Given the description of an element on the screen output the (x, y) to click on. 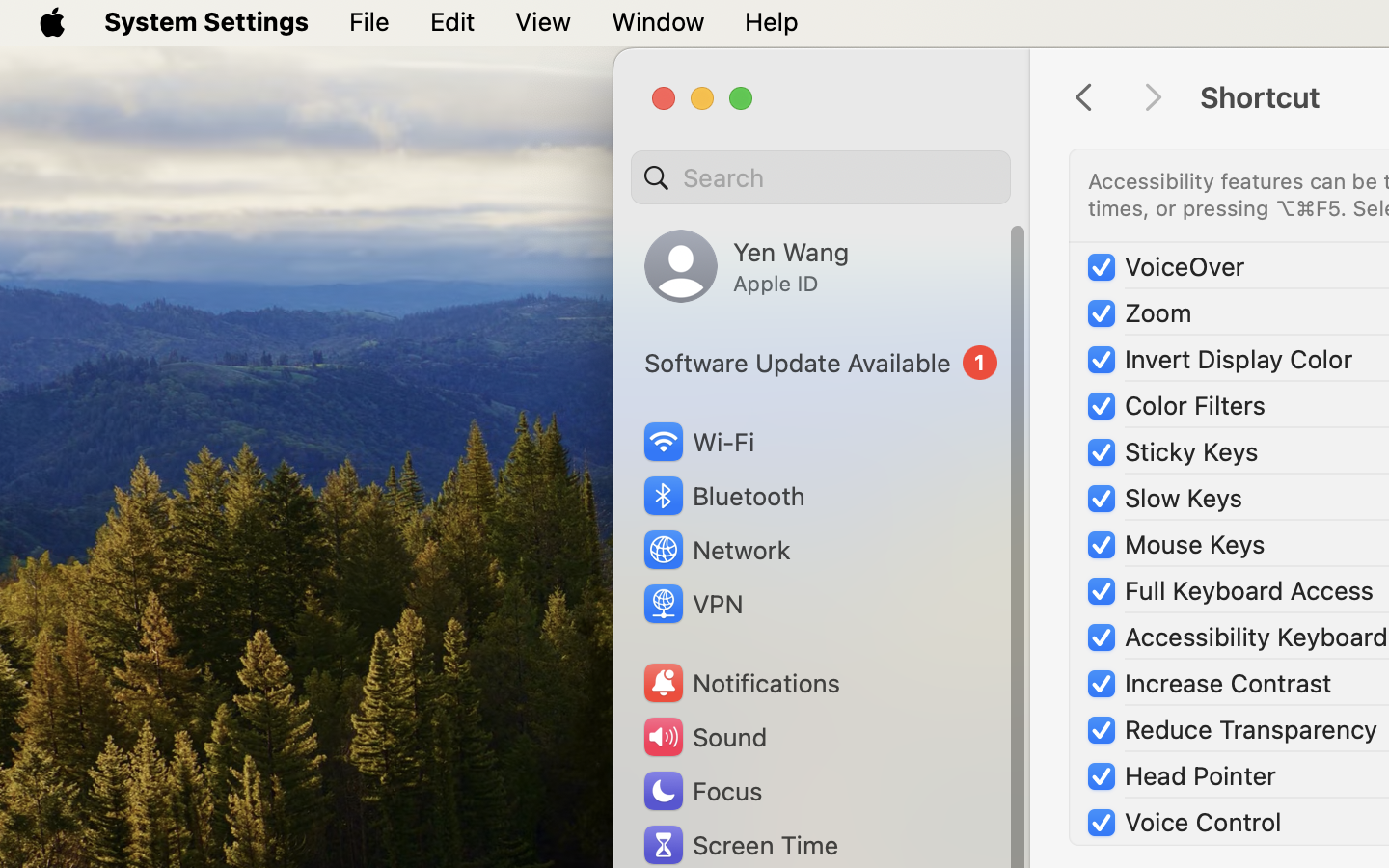
Notifications Element type: AXStaticText (740, 682)
